Given the description of an element on the screen output the (x, y) to click on. 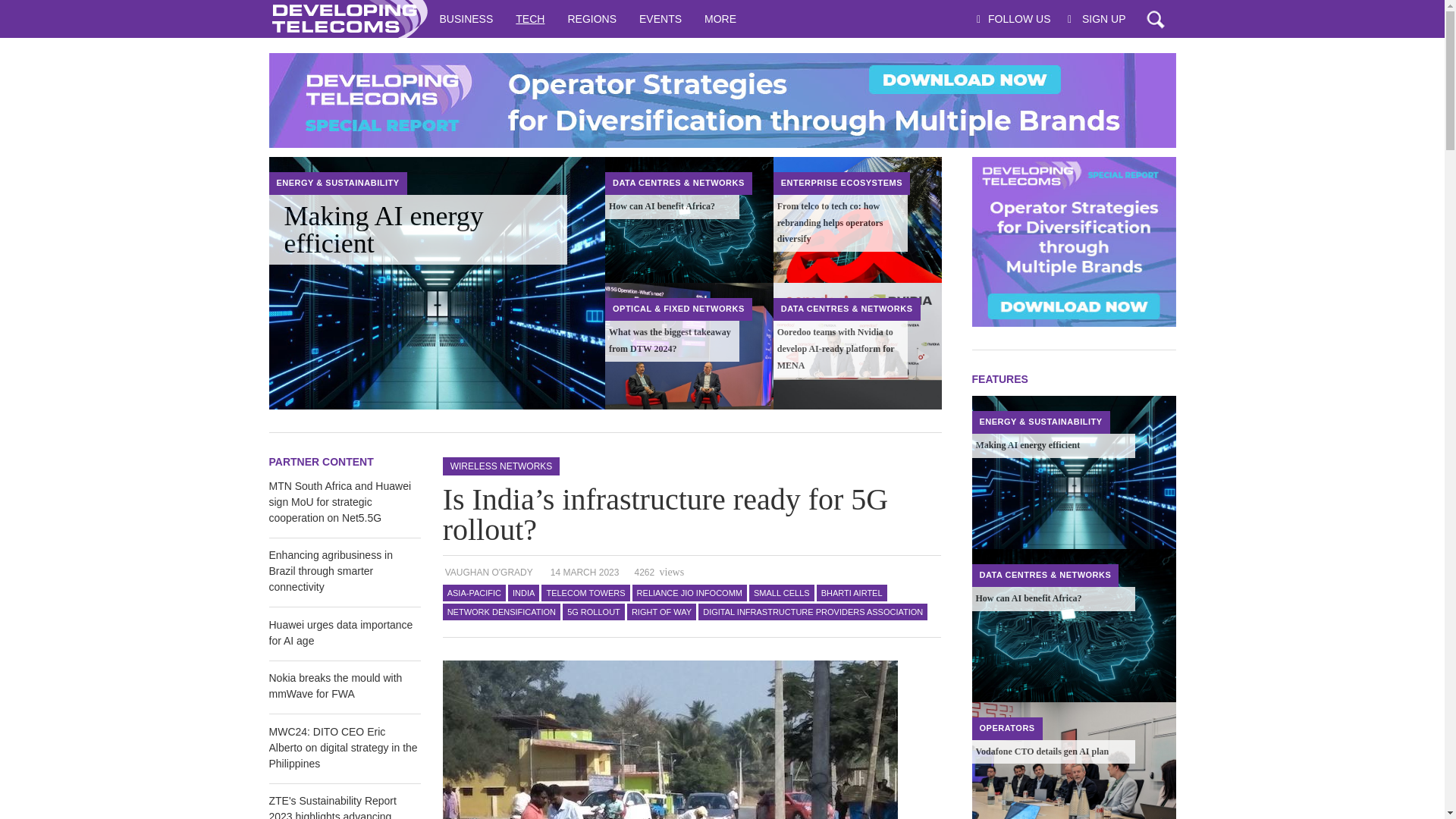
Enterprise Ecosystems (841, 182)
REGIONS (591, 18)
BUSINESS (465, 18)
TECH (529, 18)
Click to follow link (720, 100)
Developing Telecoms (347, 18)
